Given the description of an element on the screen output the (x, y) to click on. 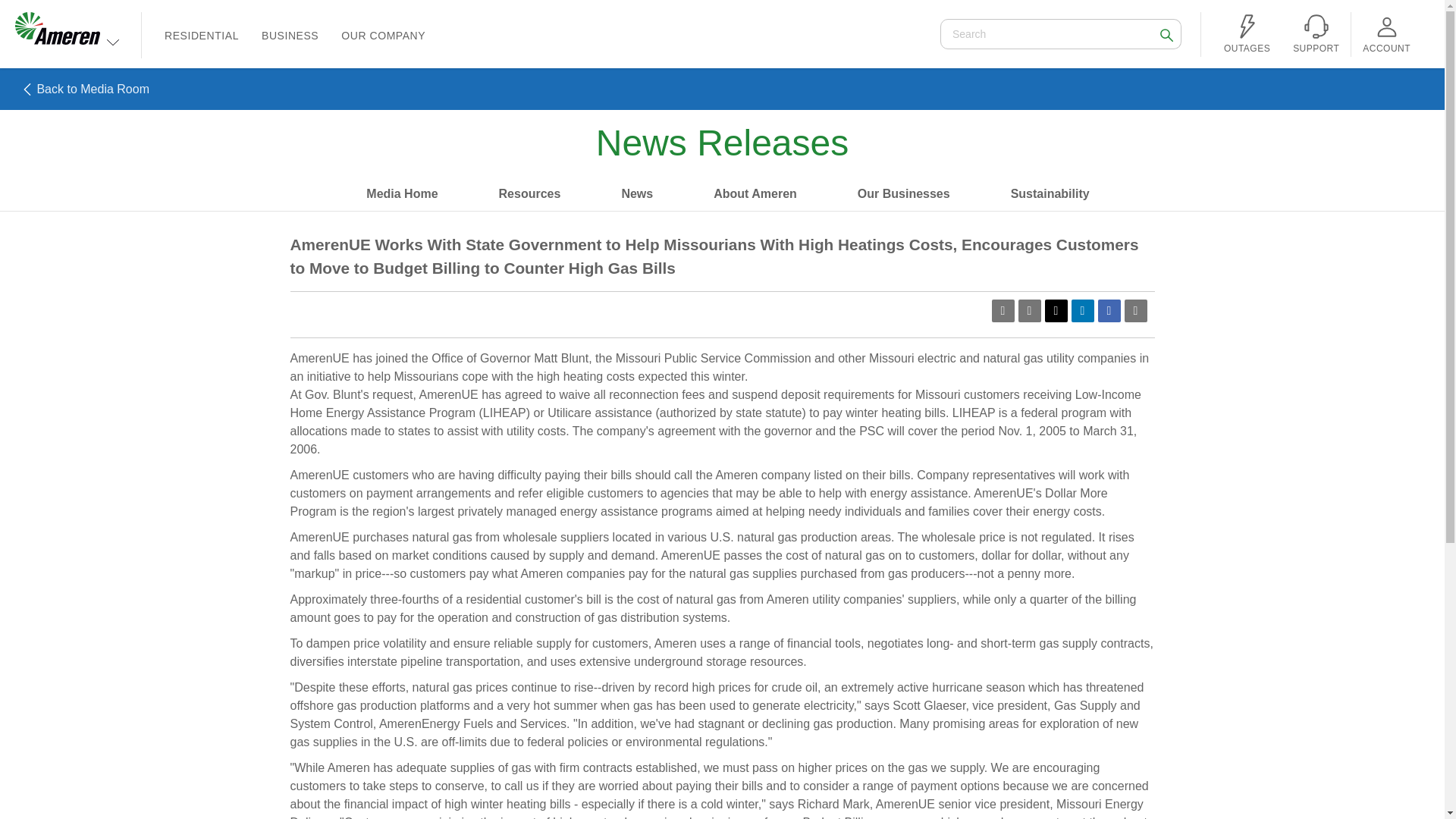
OUTAGES (1246, 35)
RESIDENTIAL (201, 35)
RSS (1002, 310)
OUR COMPANY (383, 35)
SUPPORT (1316, 35)
Print (1029, 310)
Facebook Like (1165, 33)
Chevron (948, 306)
Facebook Share (112, 40)
Twitter Share (1109, 310)
Linkedin Share (1056, 310)
BUSINESS (1081, 310)
ACCOUNT (290, 35)
Search (1386, 35)
